Given the description of an element on the screen output the (x, y) to click on. 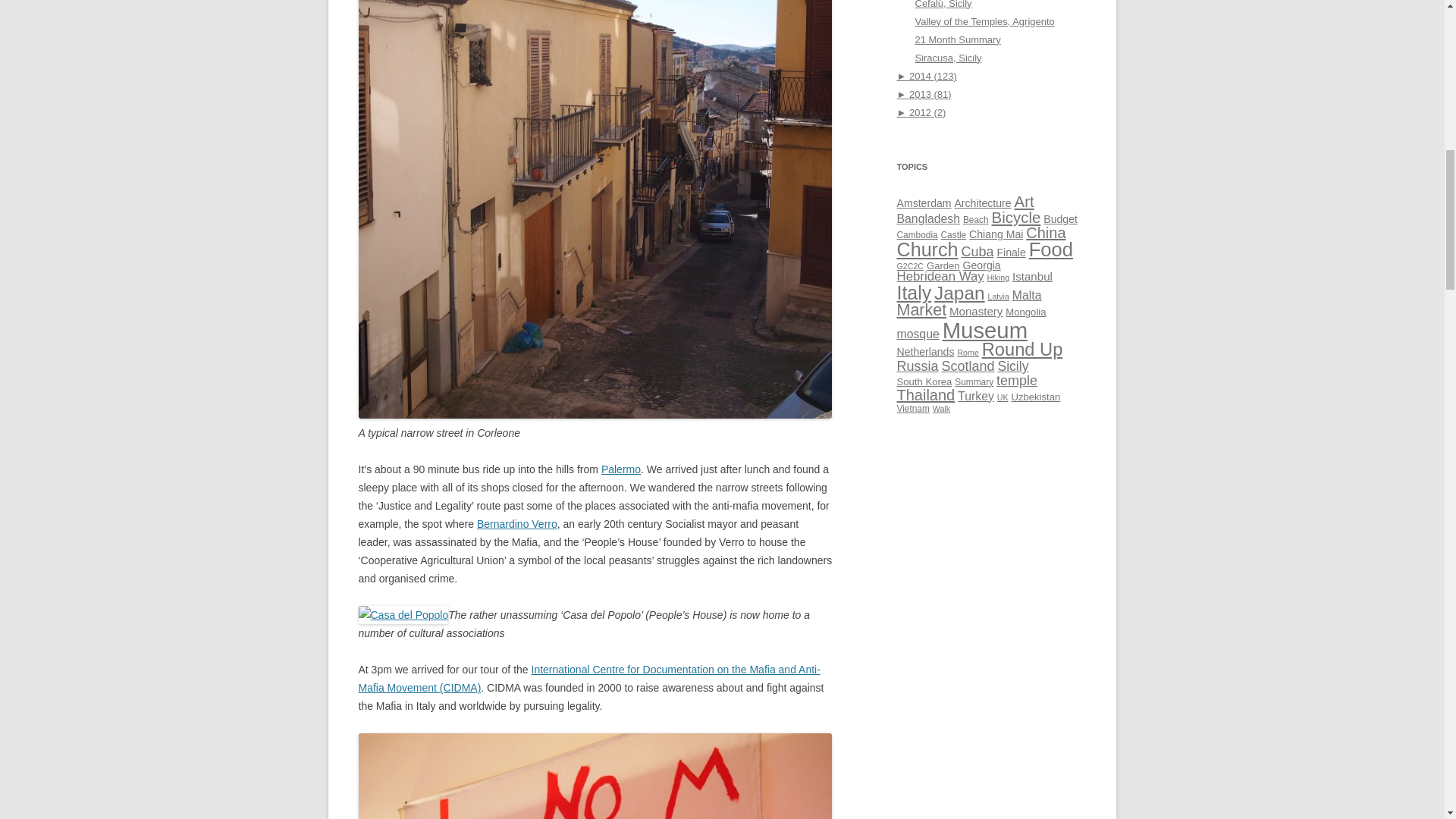
Bernardino Verro (517, 523)
Palermo (620, 469)
Highlights of Palermo, Sicily (620, 469)
